Given the description of an element on the screen output the (x, y) to click on. 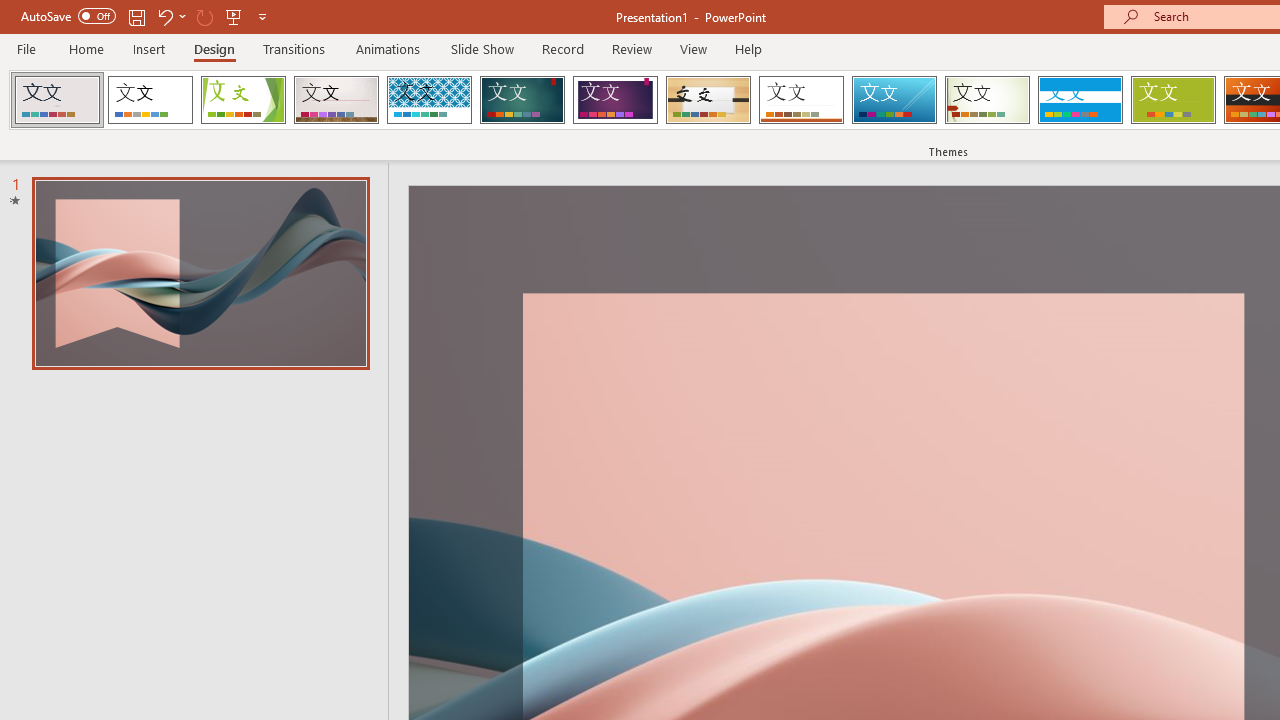
Gallery (336, 100)
